Given the description of an element on the screen output the (x, y) to click on. 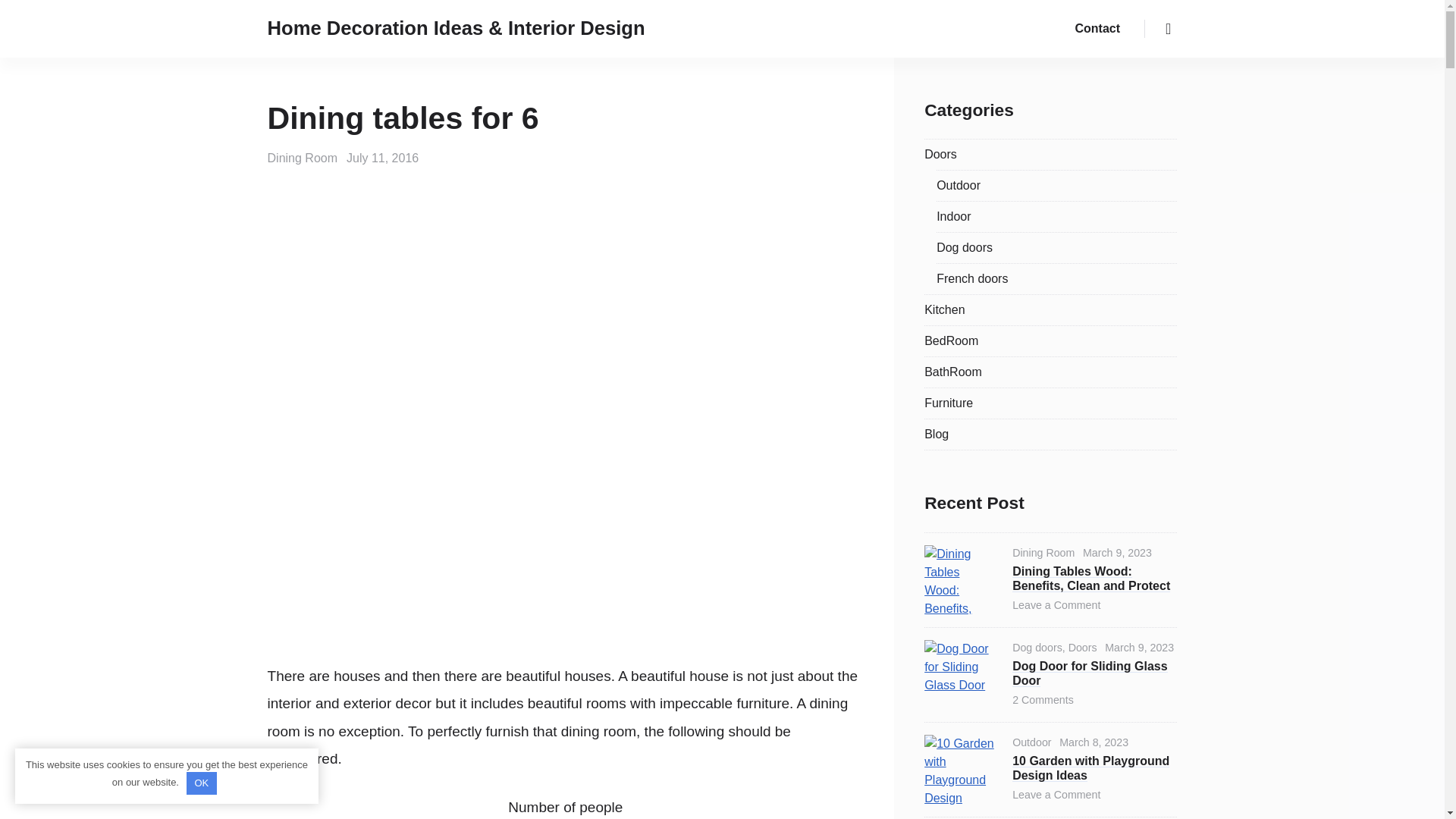
Contact (1097, 28)
July 11, 2016 (382, 157)
Dining Room (302, 157)
